Given the description of an element on the screen output the (x, y) to click on. 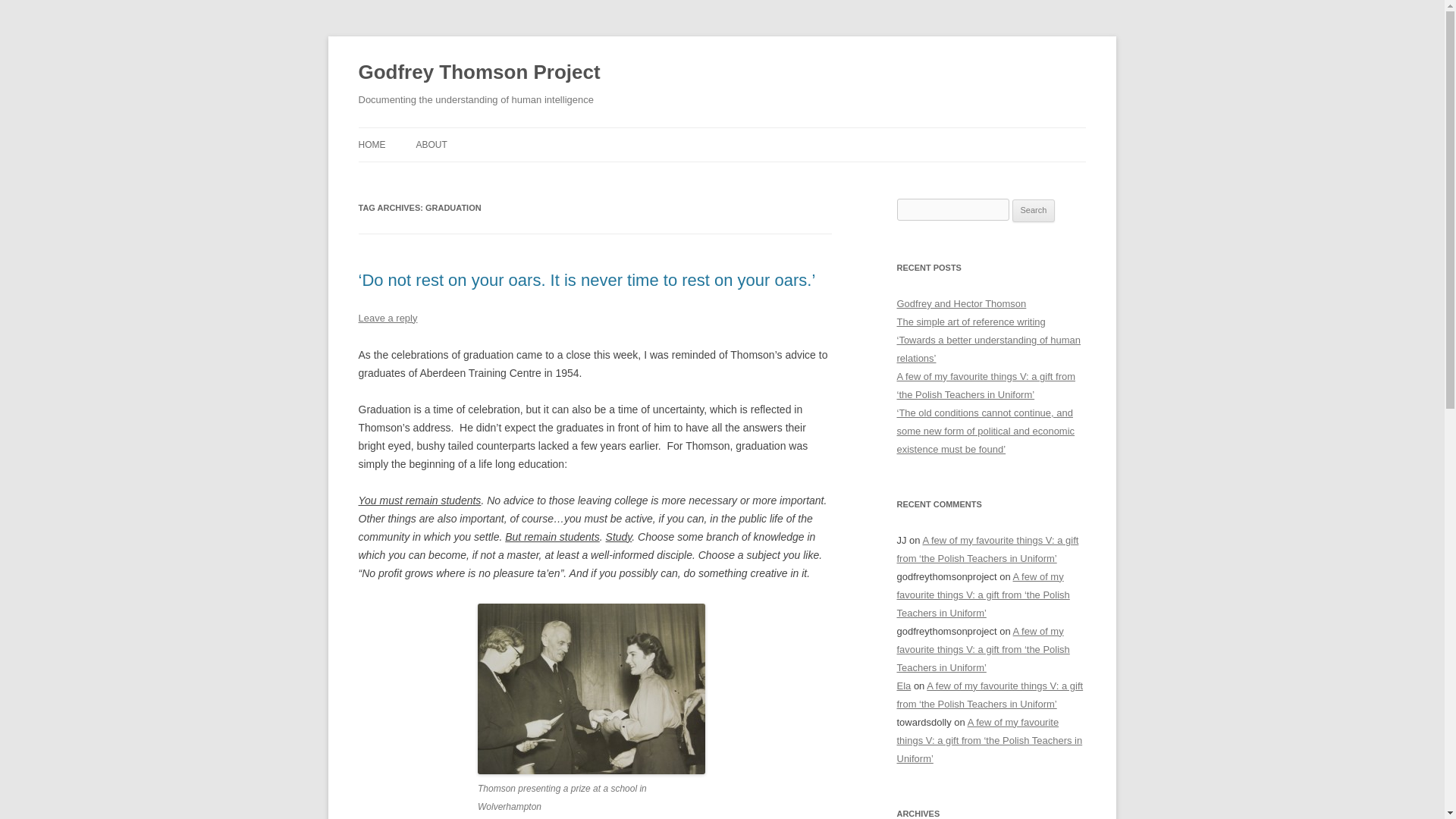
ABOUT (430, 144)
The simple art of reference writing (970, 321)
Godfrey and Hector Thomson (961, 303)
Search (1033, 210)
Leave a reply (387, 317)
Search (1033, 210)
Godfrey Thomson Project (478, 72)
Ela (903, 685)
